Given the description of an element on the screen output the (x, y) to click on. 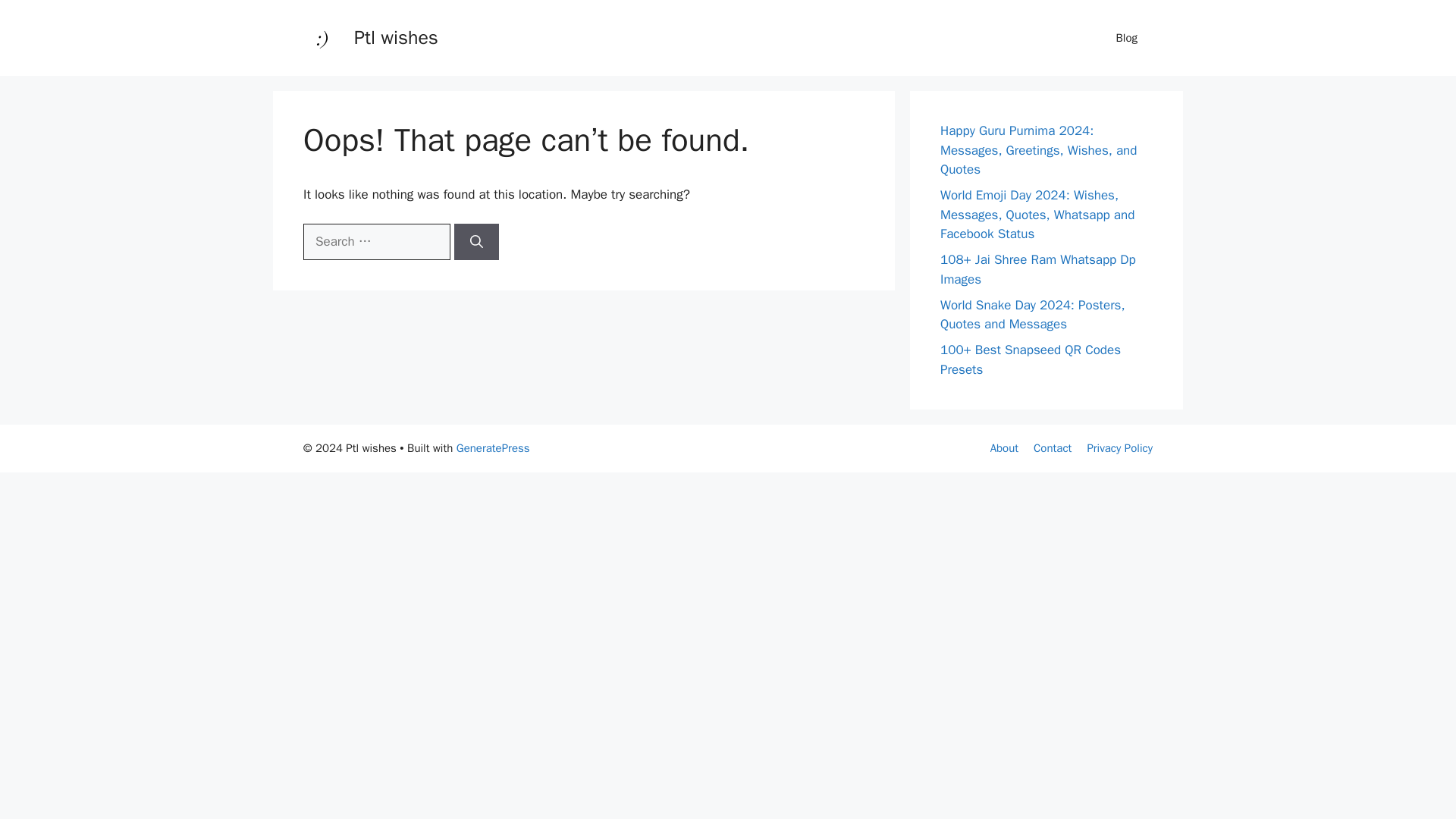
GeneratePress (493, 448)
Contact (1052, 448)
World Snake Day 2024: Posters, Quotes and Messages (1032, 314)
Search for: (375, 241)
Blog (1126, 37)
Privacy Policy (1119, 448)
Ptl wishes (395, 37)
About (1003, 448)
